Given the description of an element on the screen output the (x, y) to click on. 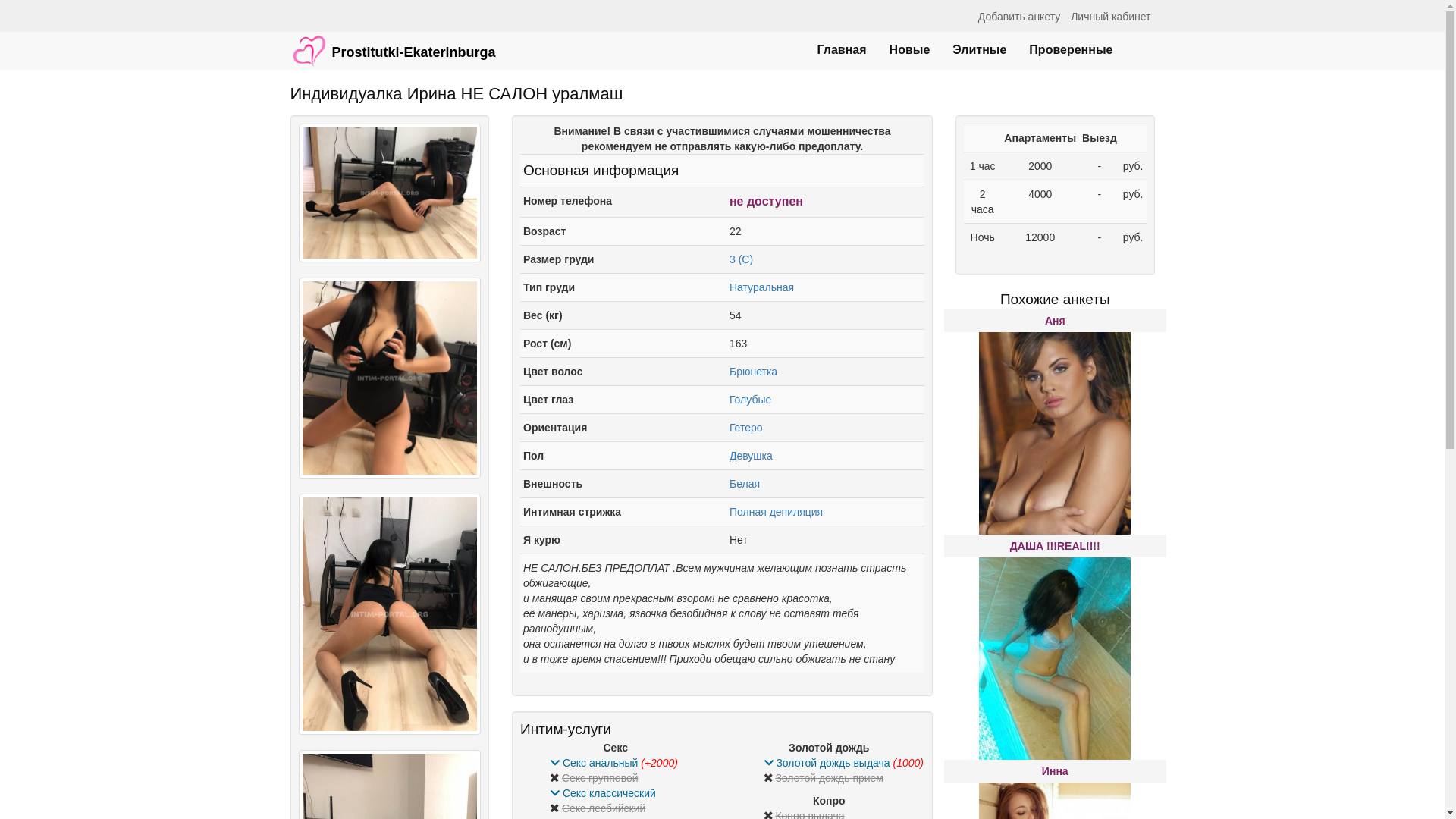
3 (C) Element type: text (741, 259)
Prostitutki-Ekaterinburga Element type: text (393, 43)
